Given the description of an element on the screen output the (x, y) to click on. 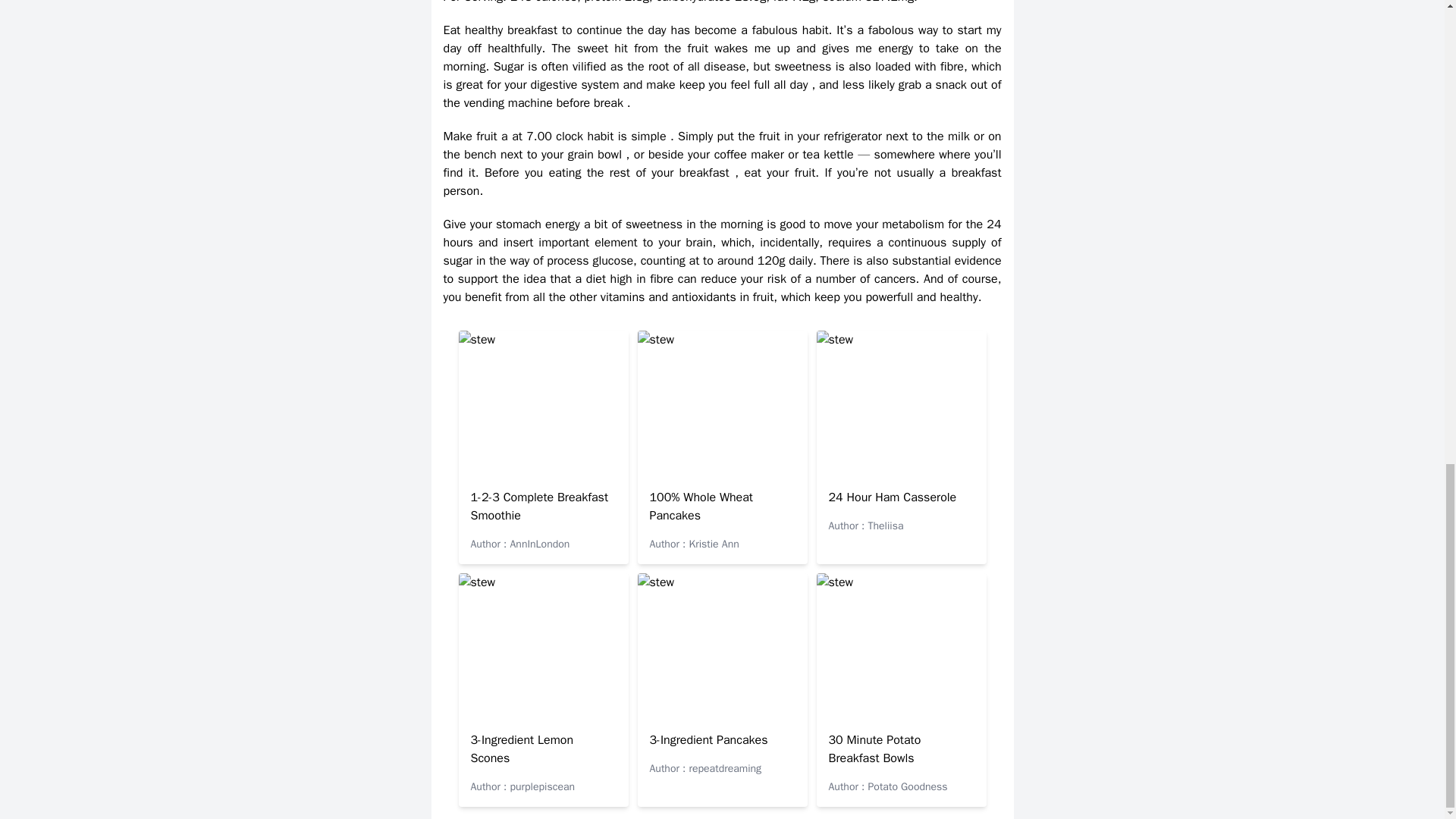
30 Minute Potato Breakfast Bowls (874, 748)
1-2-3 Complete Breakfast Smoothie (539, 506)
24 Hour Ham Casserole (892, 497)
3-Ingredient Lemon Scones (521, 748)
3-Ingredient Pancakes (708, 739)
